Given the description of an element on the screen output the (x, y) to click on. 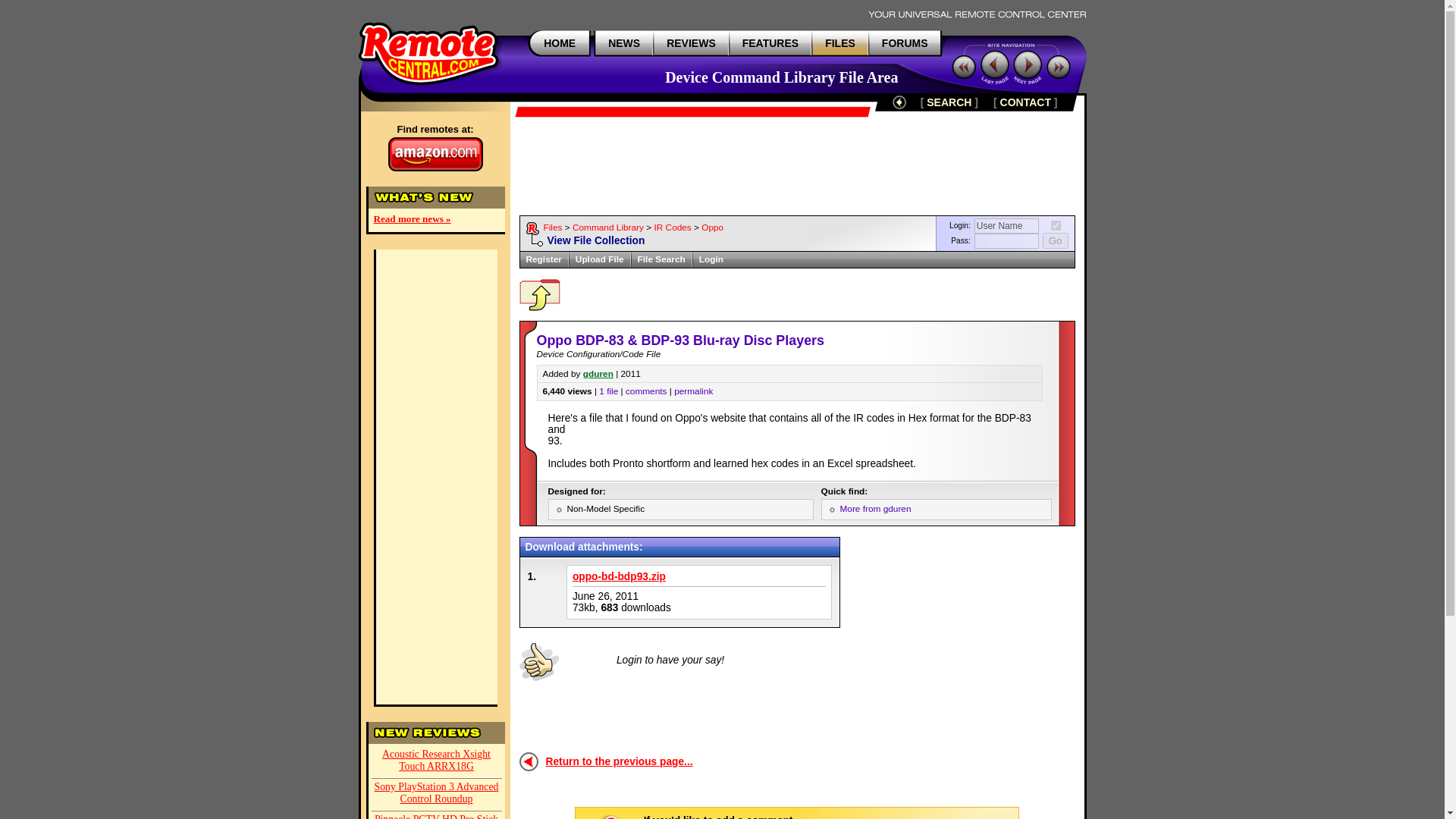
The remote control community (905, 42)
File Search (661, 258)
Advertisement (961, 631)
NEWS (624, 42)
Oppo (712, 226)
Go (1055, 240)
Pinnacle PCTV HD Pro Stick HDTV Tuner (436, 815)
Download oppo-bd-bdp93.zip (618, 576)
IR Codes (671, 226)
FORUMS (905, 42)
